Given the description of an element on the screen output the (x, y) to click on. 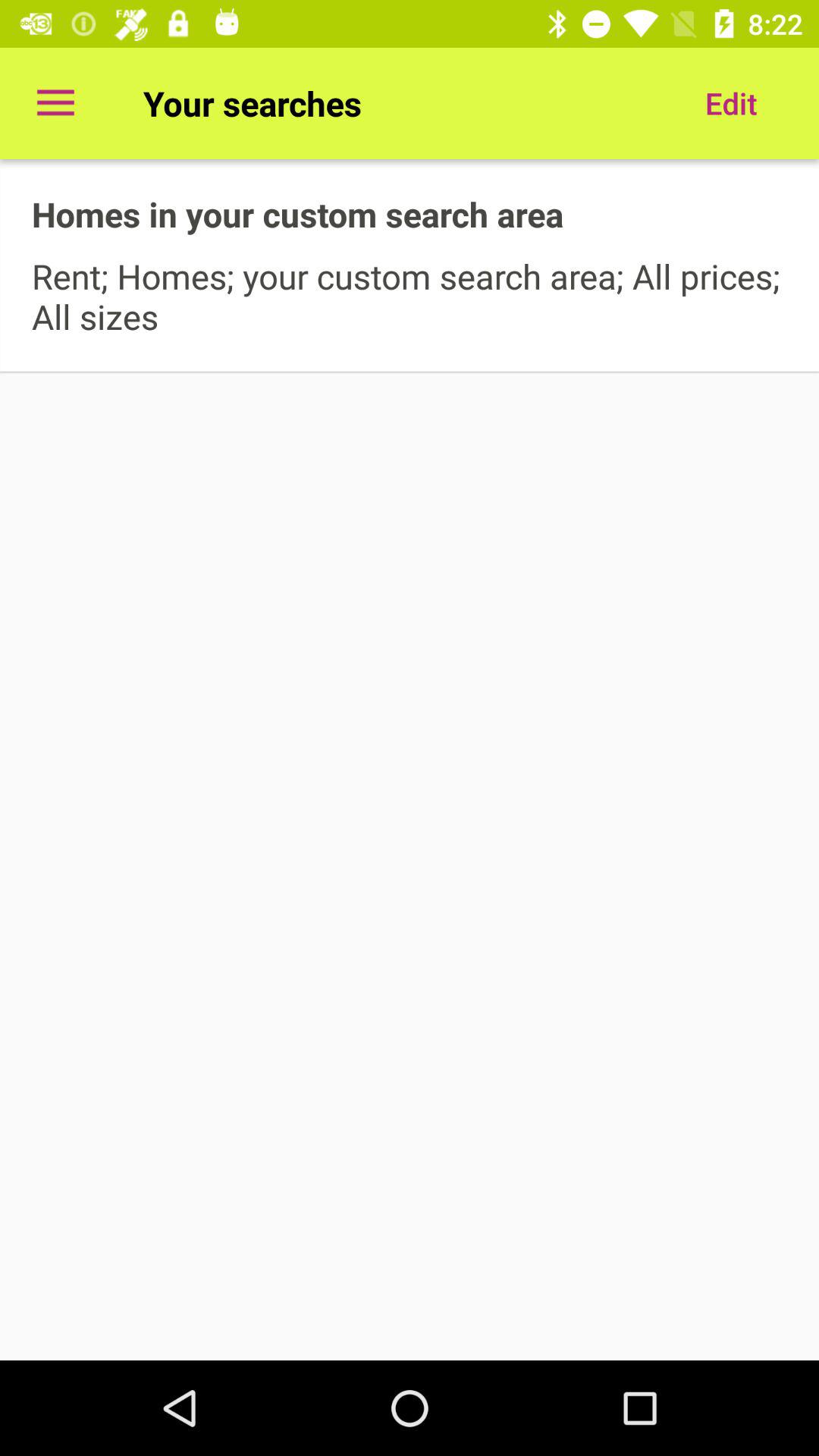
click icon to the right of your searches (731, 103)
